Given the description of an element on the screen output the (x, y) to click on. 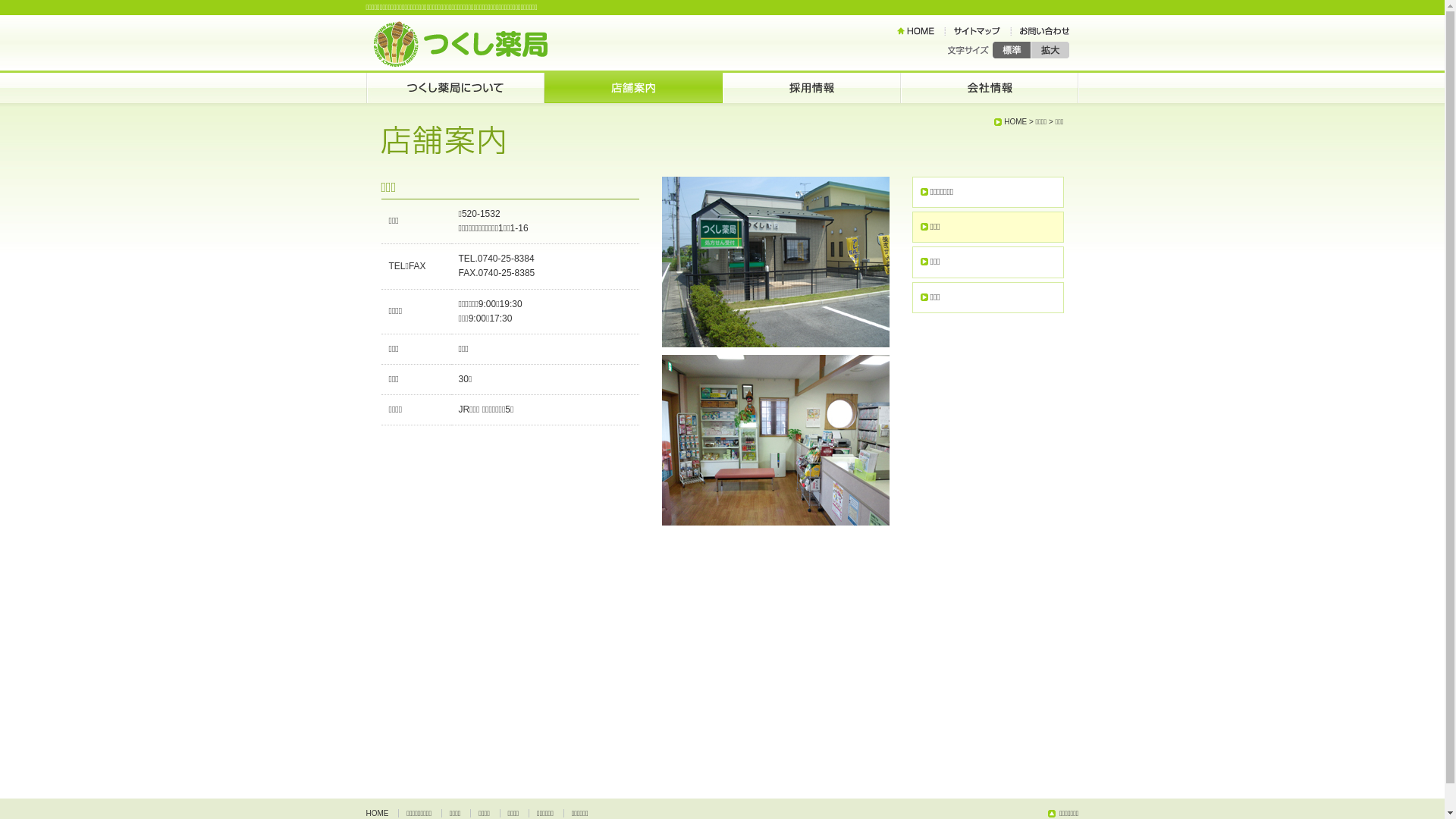
HOME Element type: text (1010, 121)
HOME Element type: text (380, 813)
